Given the description of an element on the screen output the (x, y) to click on. 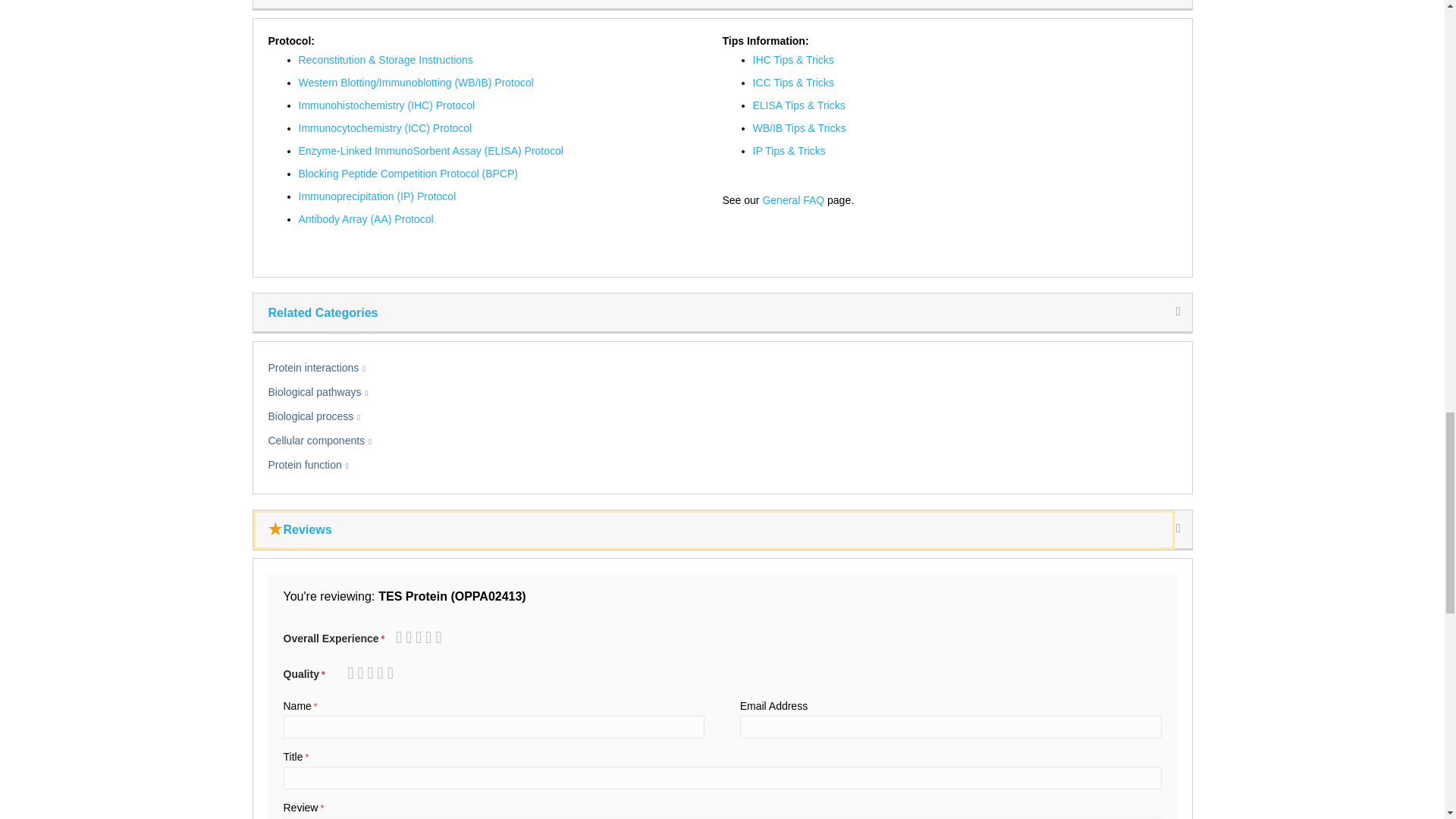
Reconstitution Instructions (385, 60)
